Given the description of an element on the screen output the (x, y) to click on. 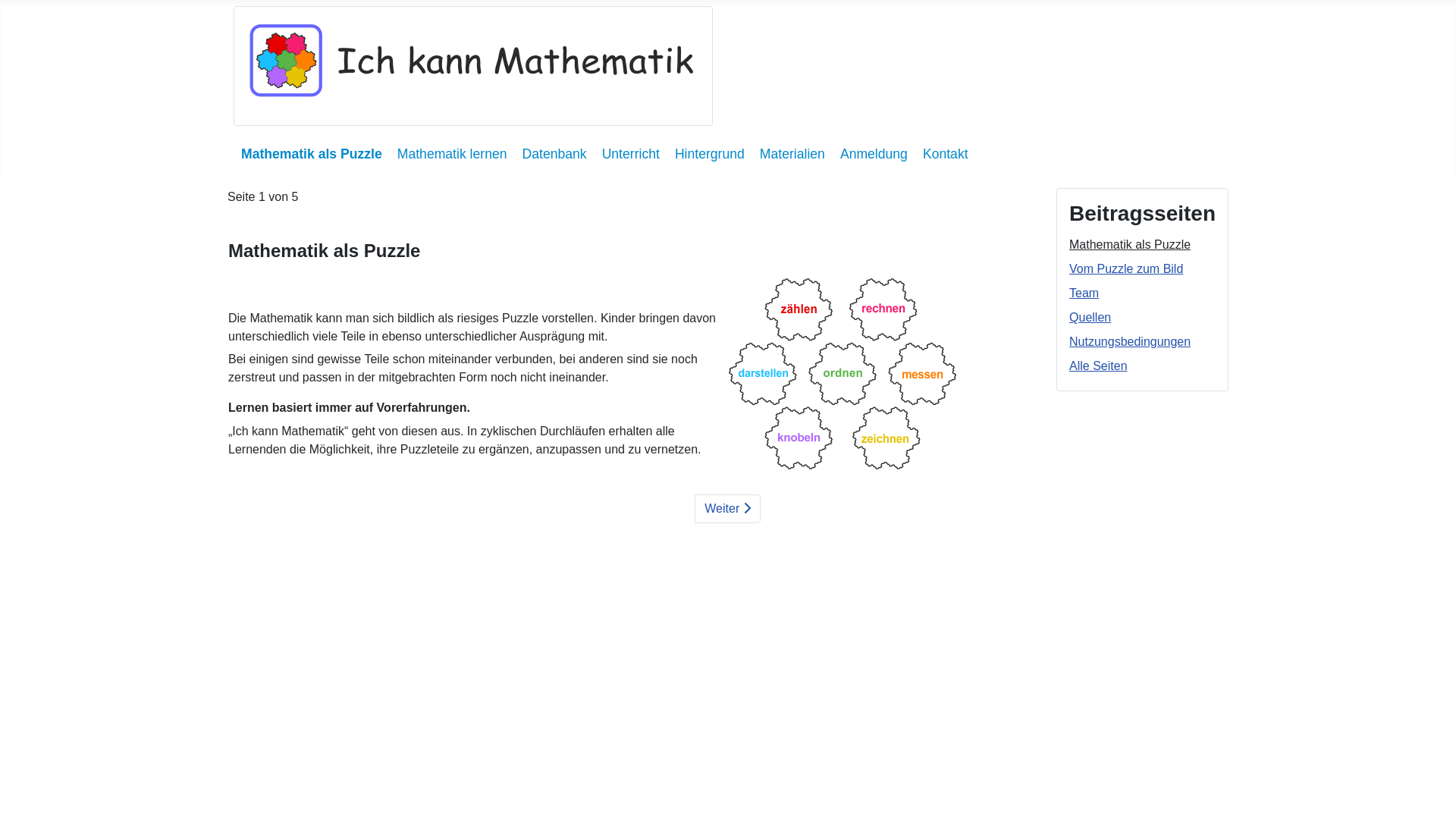
Quellen Element type: text (1089, 316)
Anmeldung Element type: text (873, 153)
Mathematik als Puzzle Element type: text (311, 153)
Materialien Element type: text (792, 153)
Datenbank Element type: text (554, 153)
Mathematik lernen Element type: text (451, 153)
Weiter Element type: text (726, 508)
Kontakt Element type: text (945, 153)
Mathematik als Puzzle Element type: text (1129, 244)
Team Element type: text (1083, 292)
Nutzungsbedingungen Element type: text (1129, 341)
Hintergrund Element type: text (709, 153)
Alle Seiten Element type: text (1098, 365)
Unterricht Element type: text (630, 153)
Vom Puzzle zum Bild Element type: text (1126, 268)
